Given the description of an element on the screen output the (x, y) to click on. 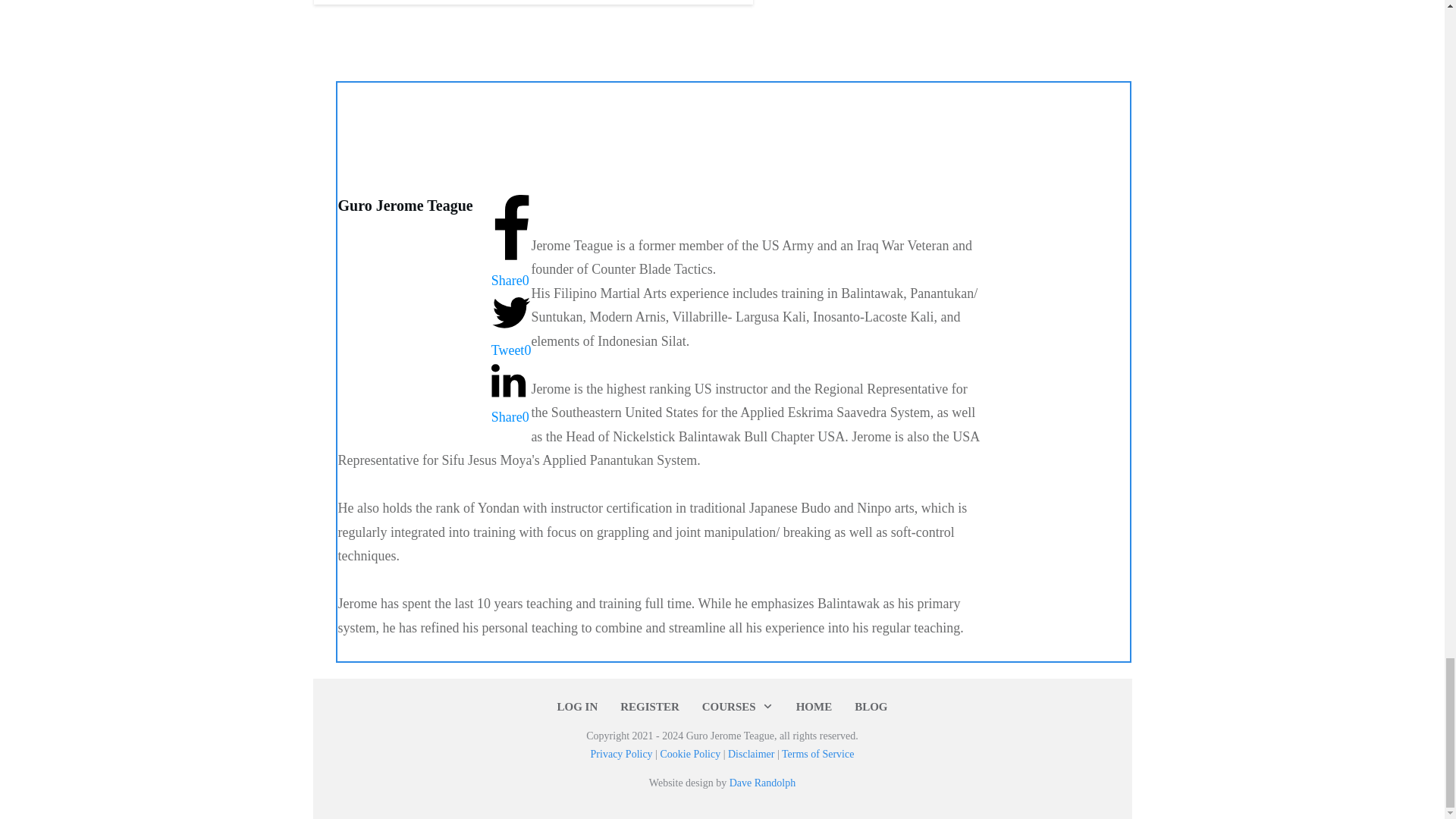
Share0 (511, 270)
Tweet0 (511, 339)
